Given the description of an element on the screen output the (x, y) to click on. 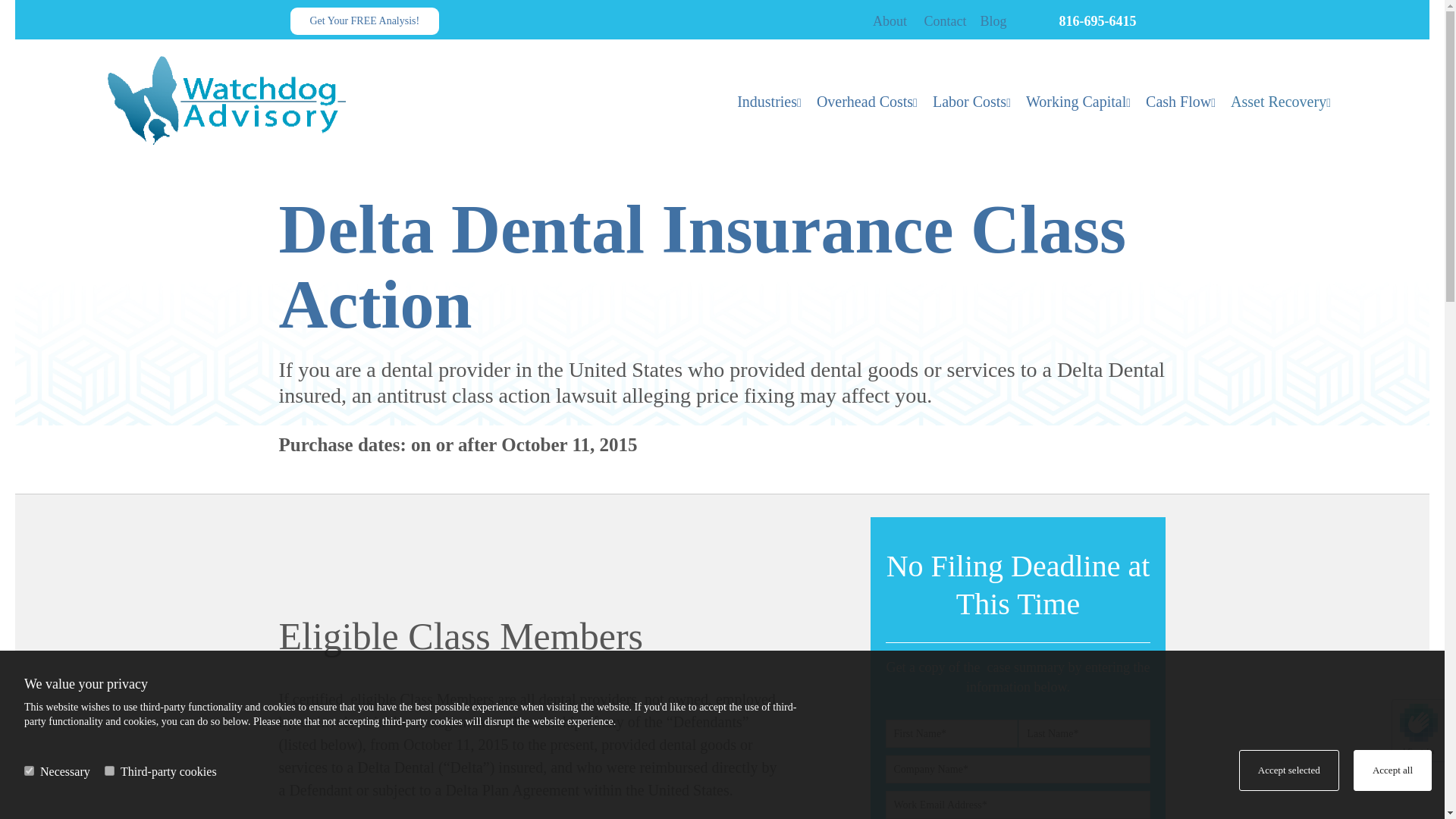
Industries (769, 94)
Watchdog Advisory Business Consulting (248, 100)
Accept selected (1289, 770)
Accept all (1392, 770)
Blog (992, 20)
Contact (944, 20)
Labor Costs (970, 94)
Free Business Analytiss Button (364, 21)
About (889, 20)
Cash Flow (1180, 94)
